Given the description of an element on the screen output the (x, y) to click on. 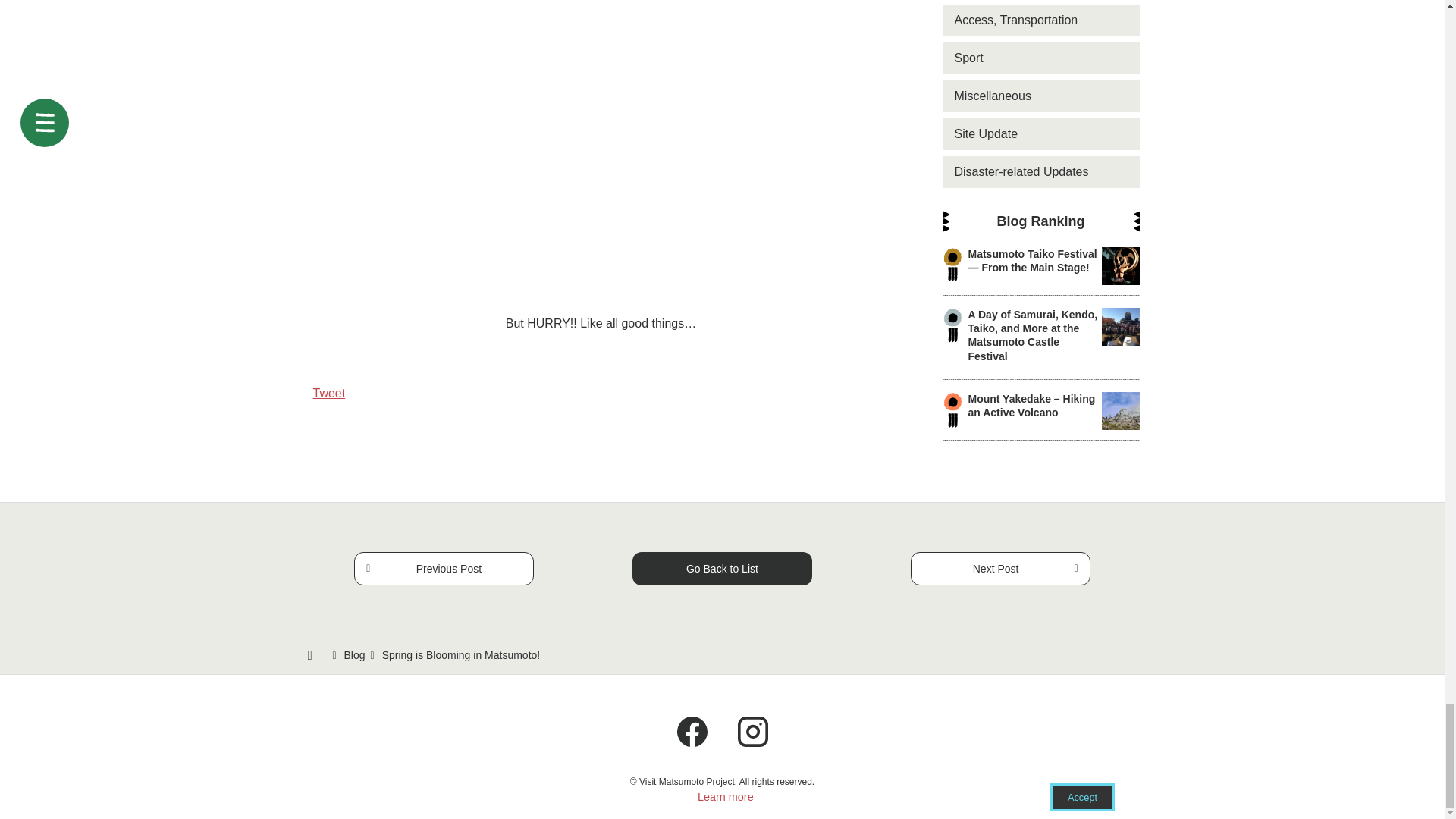
Tweet (329, 392)
